Given the description of an element on the screen output the (x, y) to click on. 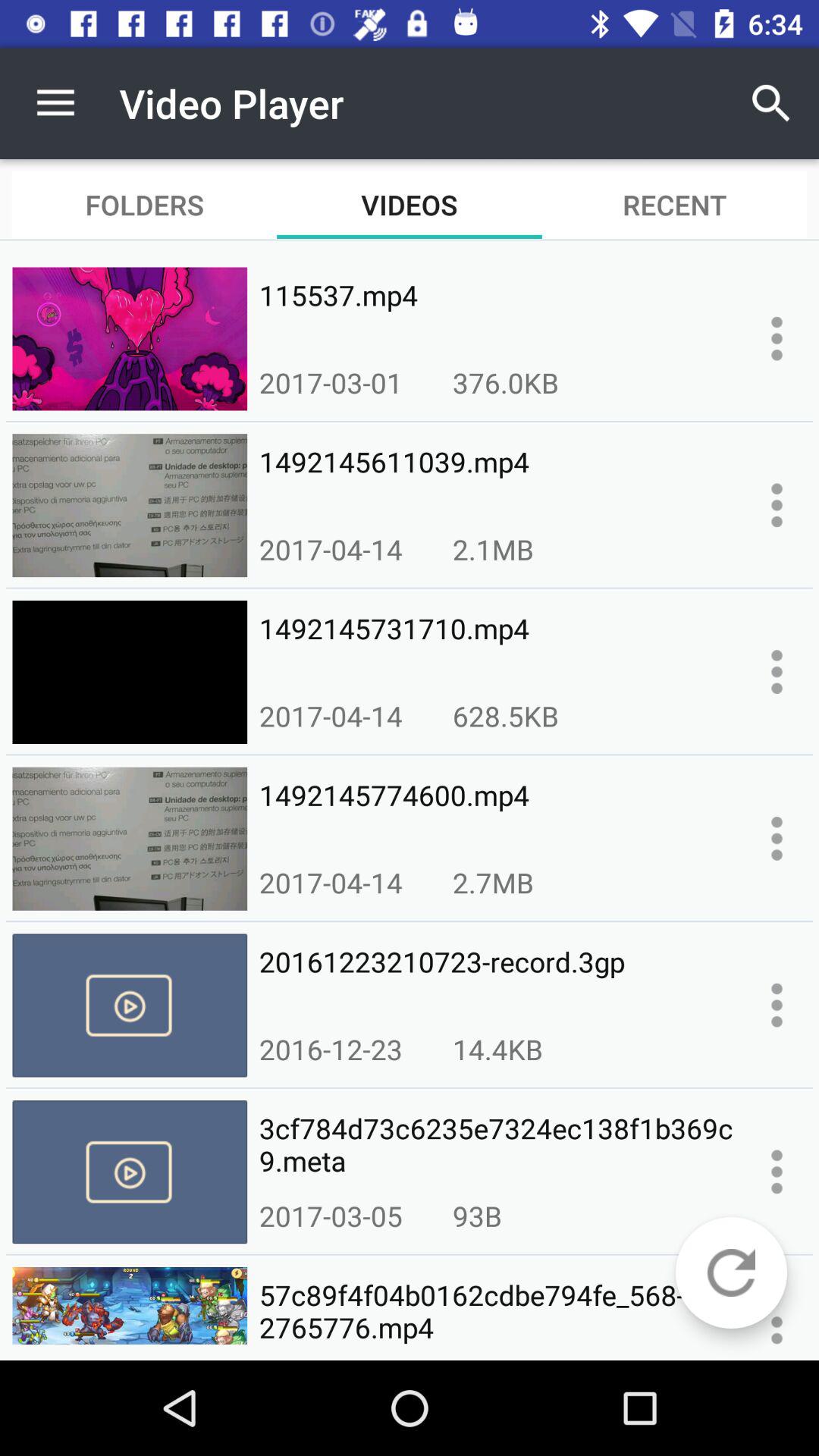
more option (776, 671)
